Given the description of an element on the screen output the (x, y) to click on. 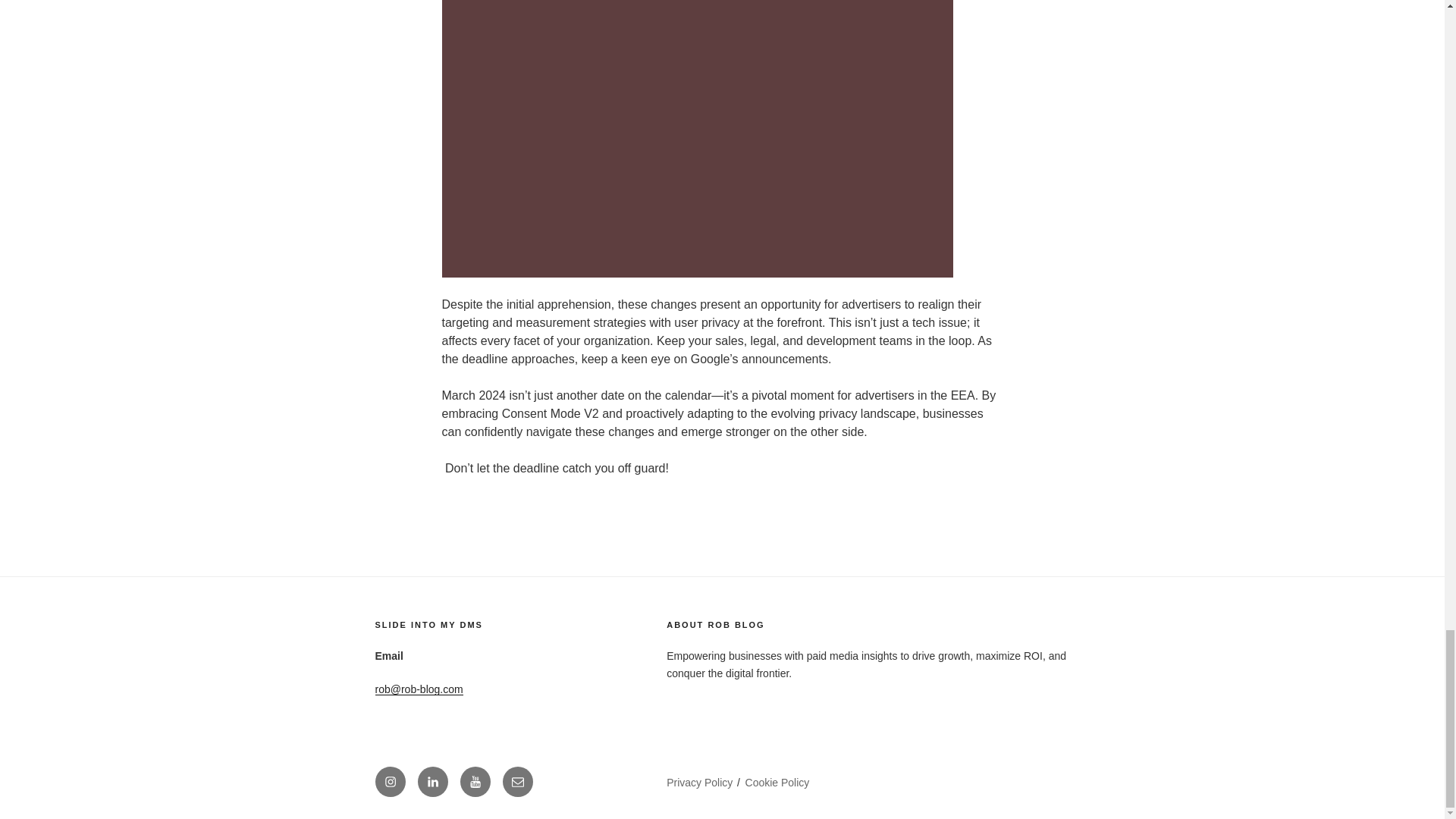
Email (517, 781)
Instagram (389, 781)
LinkedIn (431, 781)
Privacy Policy (699, 782)
Cookie Policy (777, 782)
YouTube (474, 781)
